Given the description of an element on the screen output the (x, y) to click on. 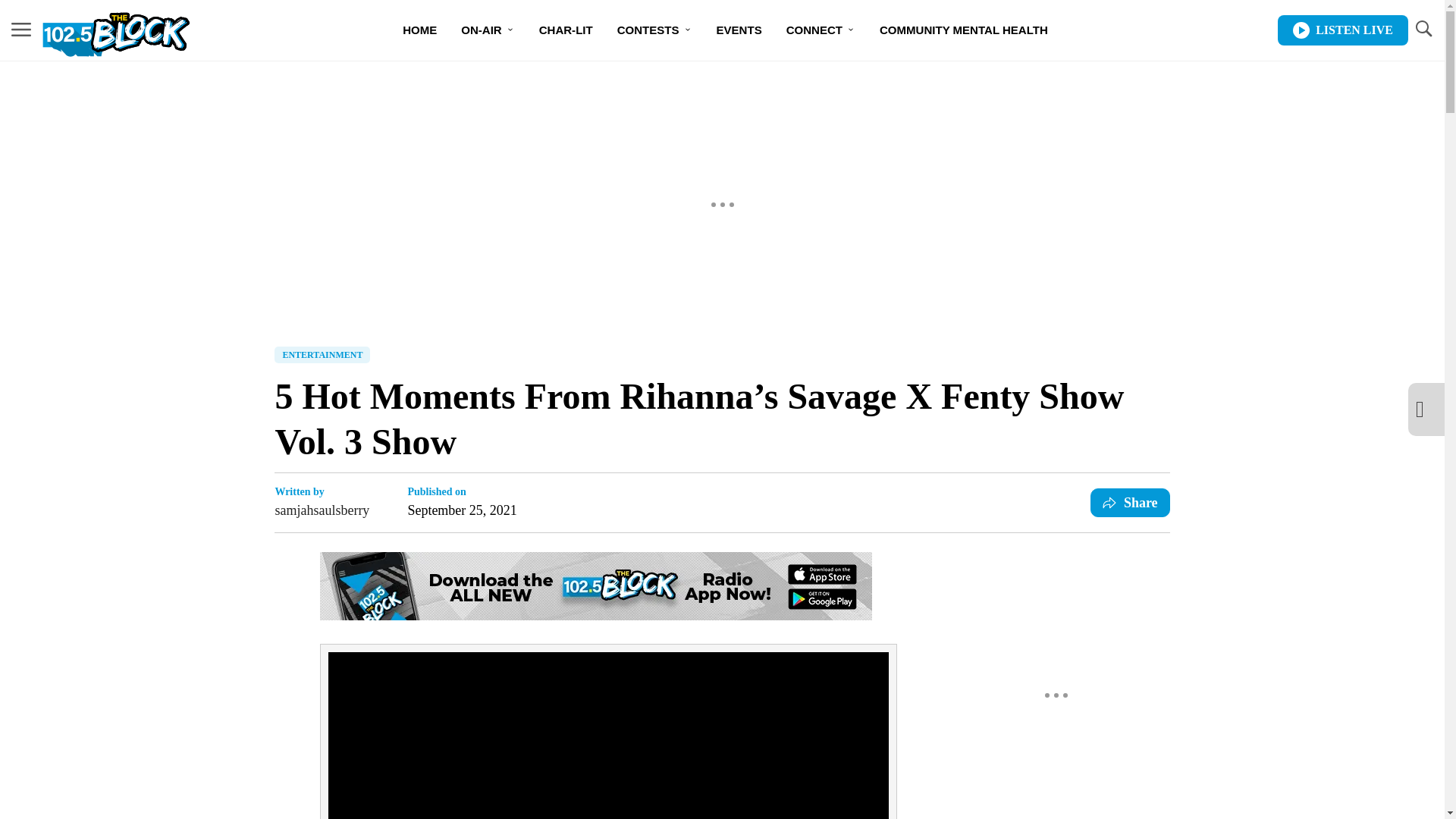
LISTEN LIVE (1342, 30)
ON-AIR (486, 30)
TOGGLE SEARCH (1422, 28)
MENU (20, 29)
samjahsaulsberry (322, 509)
CONTESTS (654, 30)
Share (1130, 502)
CONNECT (820, 30)
ENTERTAINMENT (322, 354)
HOME (419, 30)
